Given the description of an element on the screen output the (x, y) to click on. 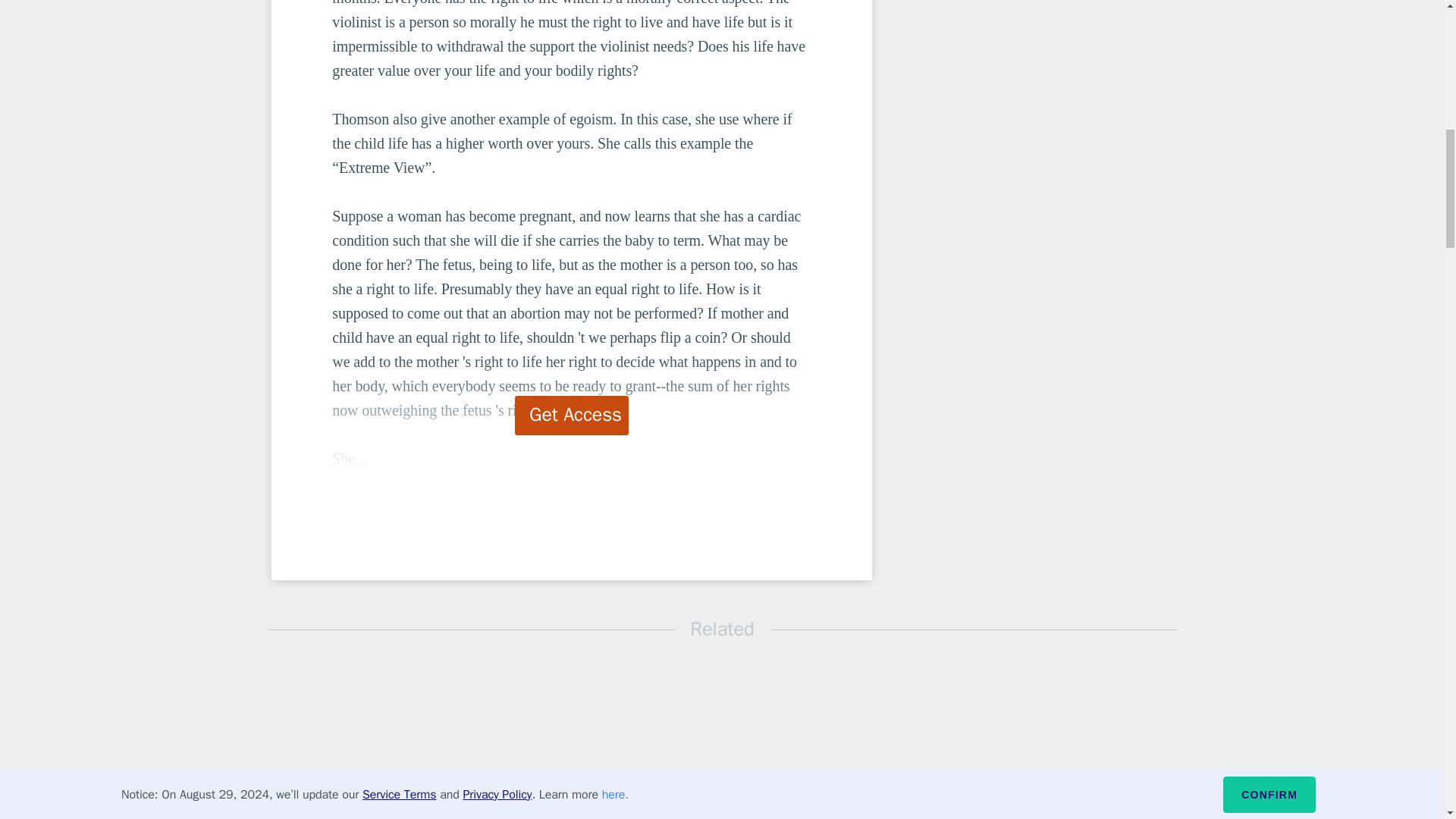
Get Access (571, 414)
